Given the description of an element on the screen output the (x, y) to click on. 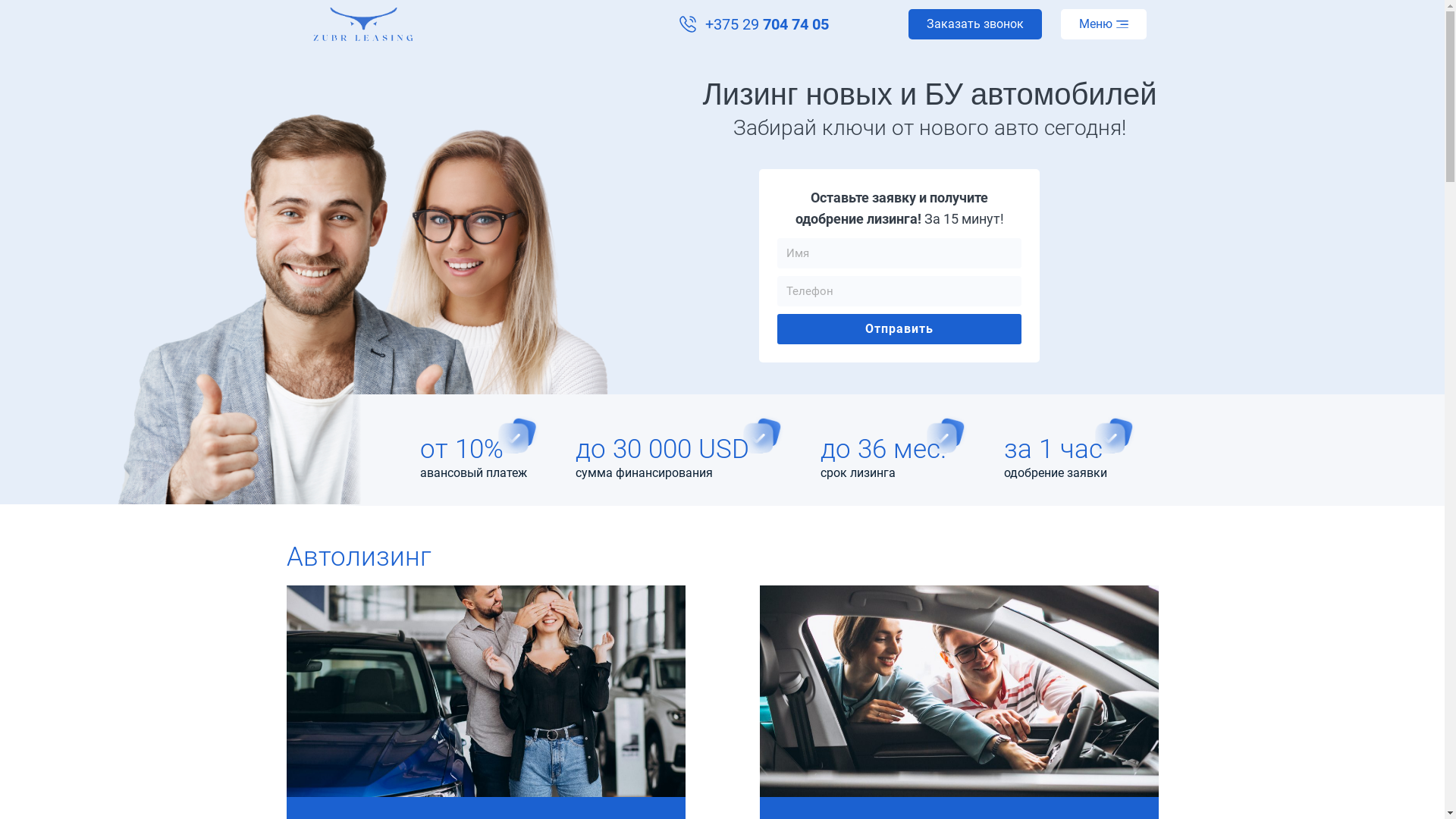
+375 29 704 74 05 Element type: text (753, 24)
